Given the description of an element on the screen output the (x, y) to click on. 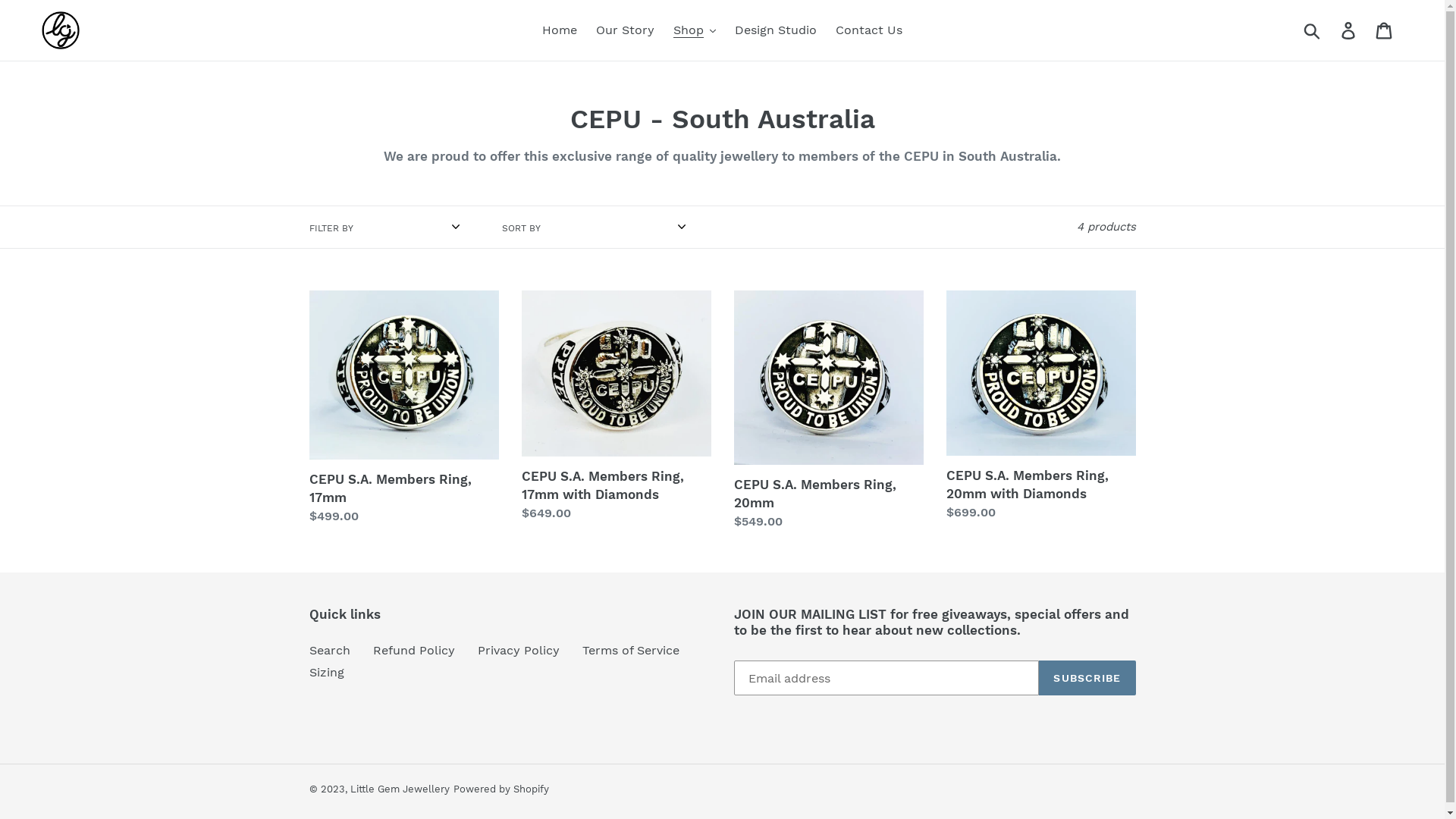
Design Studio Element type: text (775, 29)
Cart Element type: text (1384, 30)
CEPU S.A. Members Ring, 20mm with Diamonds Element type: text (1040, 405)
CEPU S.A. Members Ring, 17mm Element type: text (403, 407)
Privacy Policy Element type: text (518, 650)
CEPU S.A. Members Ring, 20mm Element type: text (828, 410)
SUBSCRIBE Element type: text (1086, 677)
Terms of Service Element type: text (630, 650)
Refund Policy Element type: text (414, 650)
Powered by Shopify Element type: text (501, 788)
Home Element type: text (559, 29)
Log in Element type: text (1349, 30)
Little Gem Jewellery Element type: text (399, 788)
Our Story Element type: text (625, 29)
Contact Us Element type: text (869, 29)
Search Element type: text (329, 650)
Sizing Element type: text (326, 672)
CEPU S.A. Members Ring, 17mm with Diamonds Element type: text (616, 406)
Submit Element type: text (1312, 30)
